Given the description of an element on the screen output the (x, y) to click on. 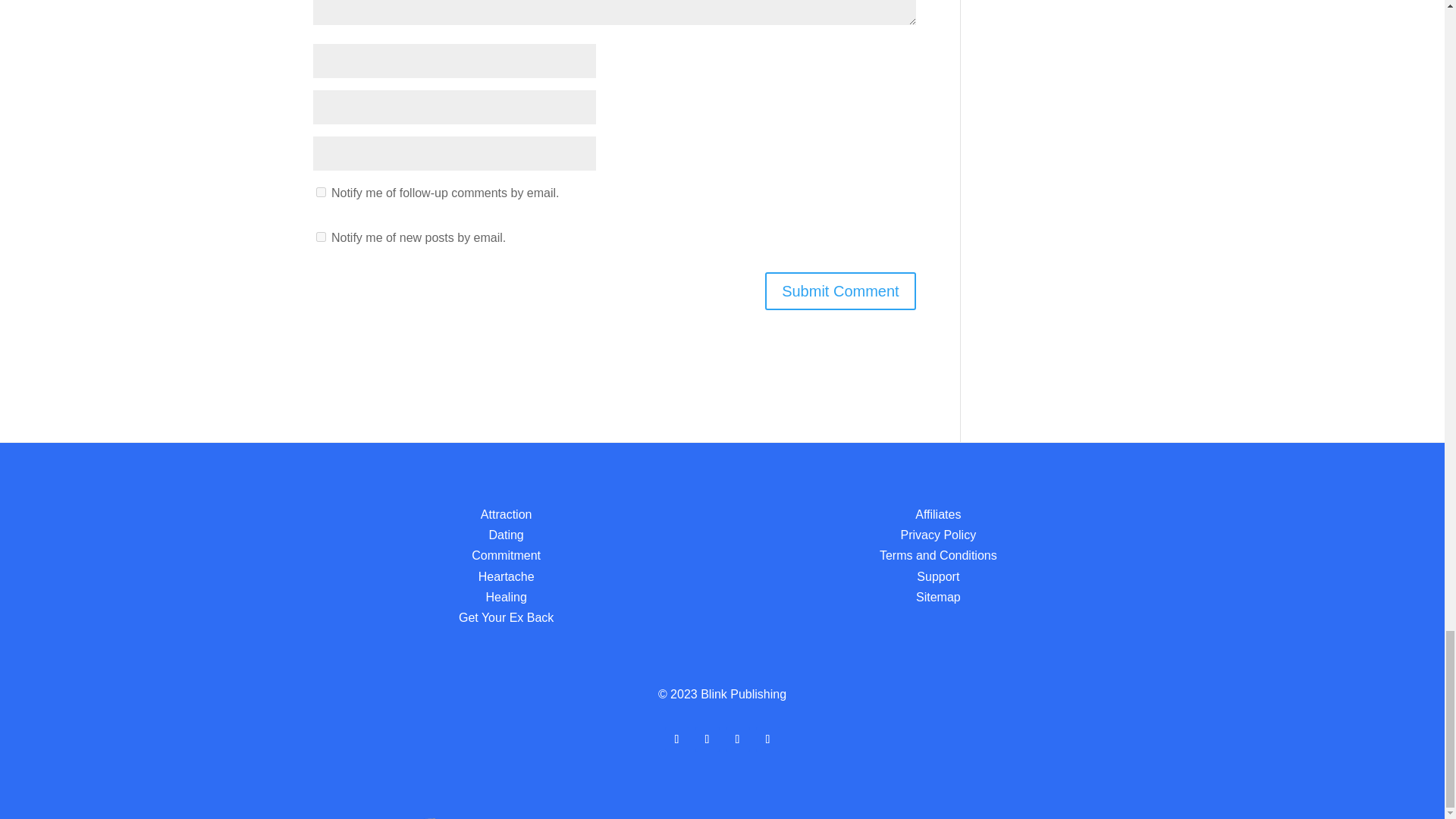
Submit Comment (840, 290)
Commitment (505, 554)
Dating (506, 534)
Follow on Facebook (675, 739)
Follow on X (706, 739)
subscribe (319, 236)
subscribe (319, 192)
Follow on Pinterest (737, 739)
Submit Comment (840, 290)
